Given the description of an element on the screen output the (x, y) to click on. 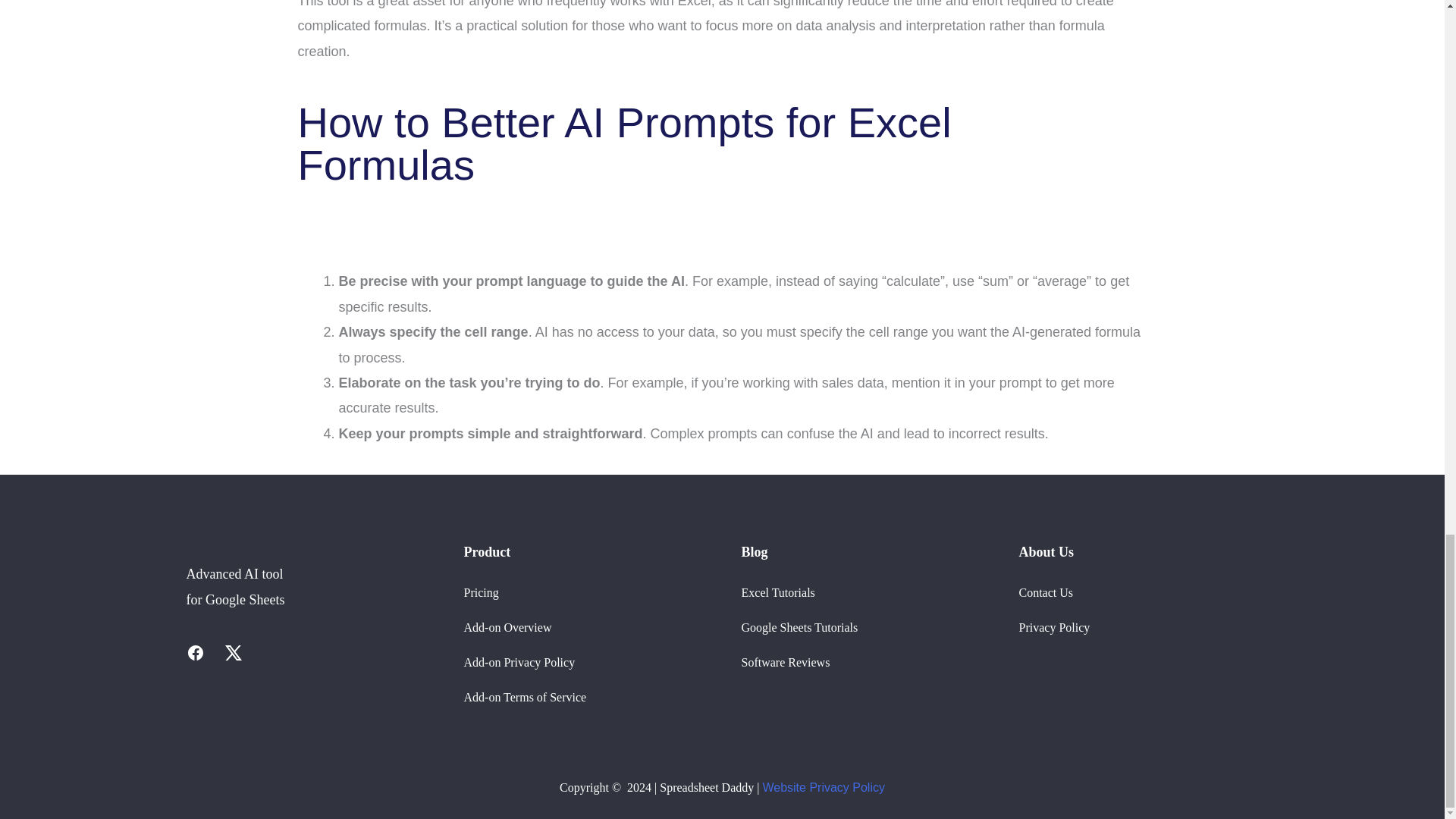
Add-on Terms of Service (525, 697)
Add-on Overview (507, 626)
Pricing (481, 592)
Add-on Privacy Policy (519, 662)
Excel Tutorials (778, 592)
